Given the description of an element on the screen output the (x, y) to click on. 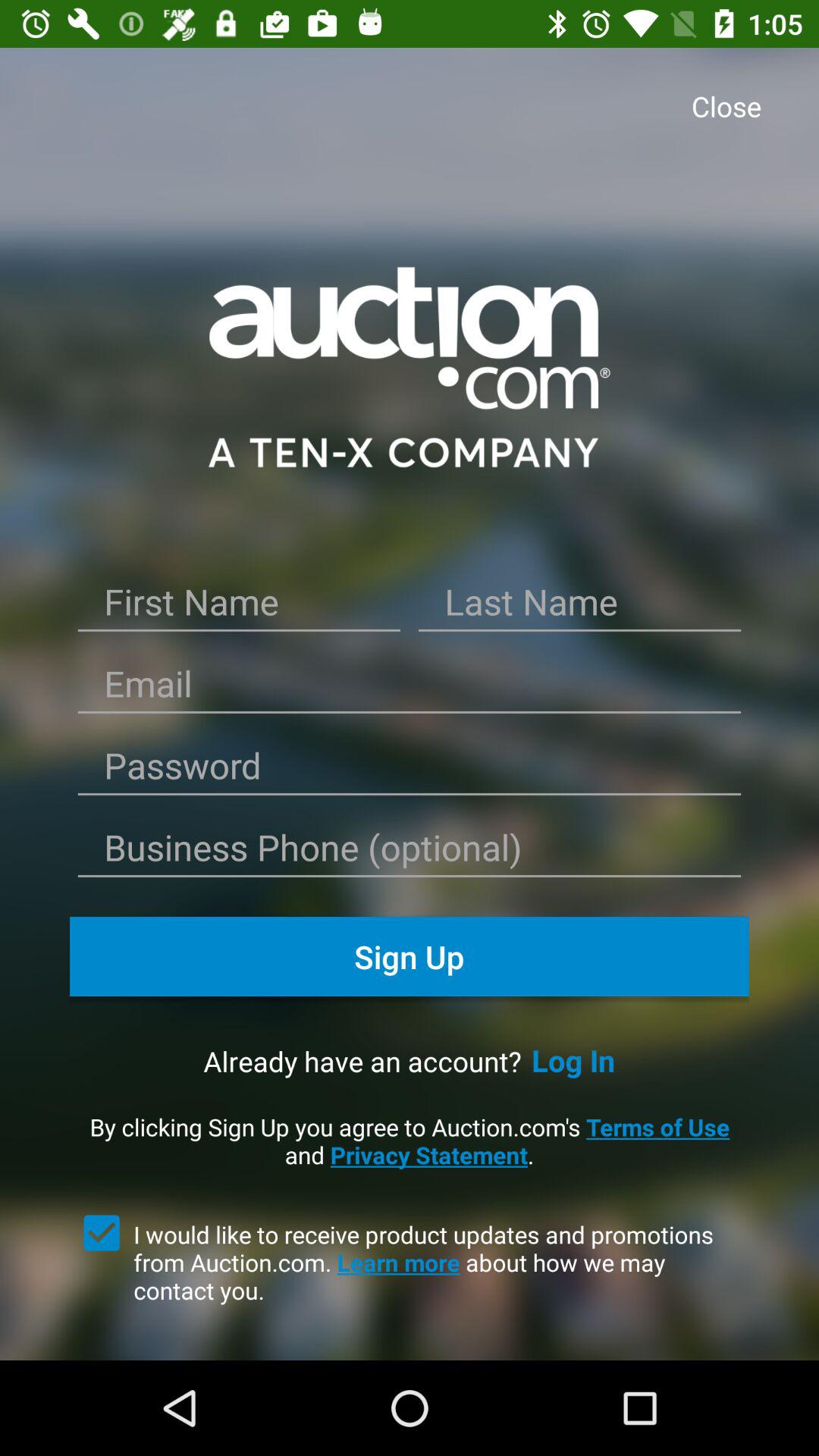
'enter the email id (409, 689)
